Given the description of an element on the screen output the (x, y) to click on. 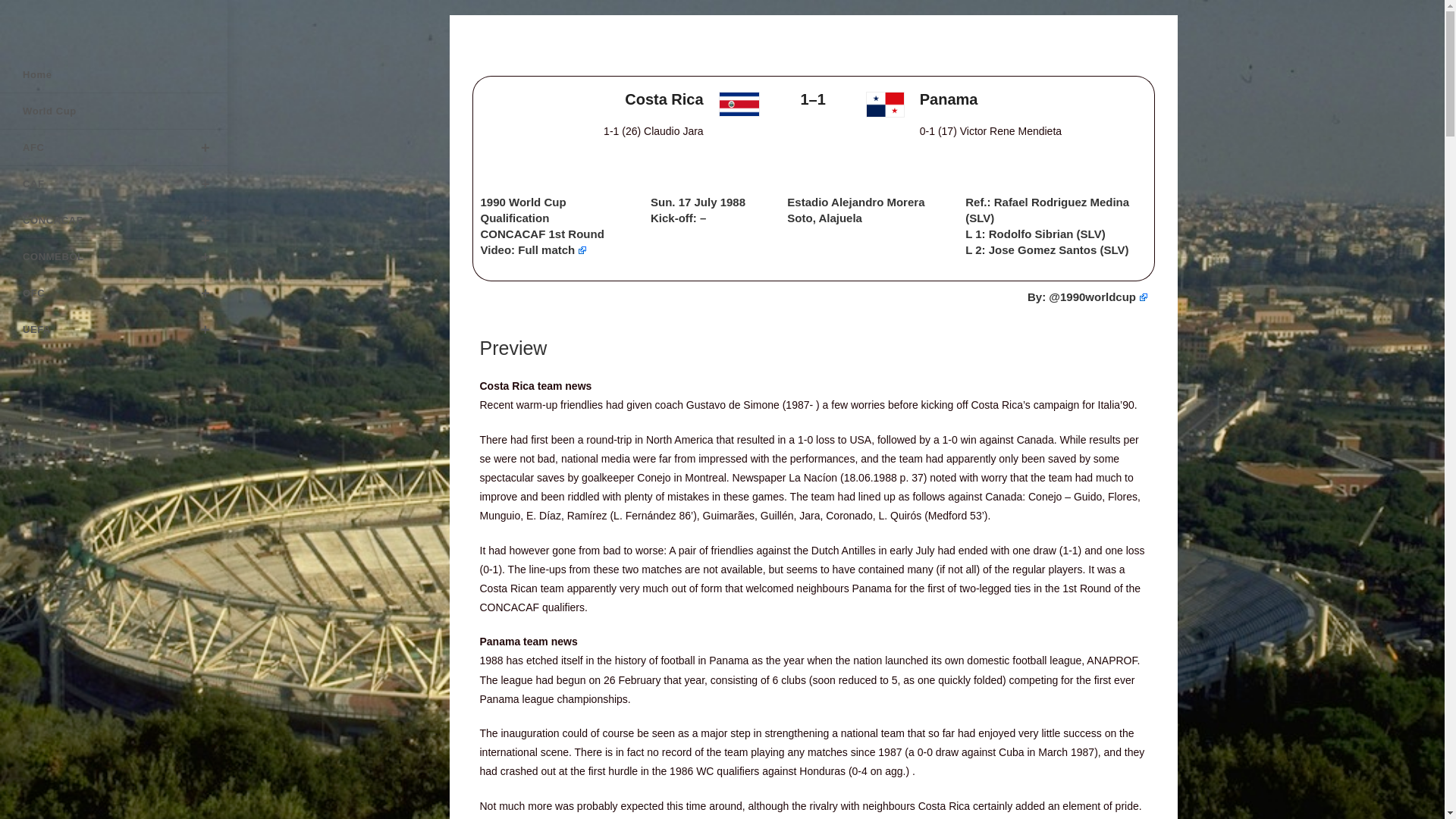
Home (113, 74)
UEFA (113, 329)
CONMEBOL (113, 256)
AFC (113, 147)
World Cup (113, 110)
OFC (113, 293)
CONCACAF (113, 220)
CAF (113, 183)
